Given the description of an element on the screen output the (x, y) to click on. 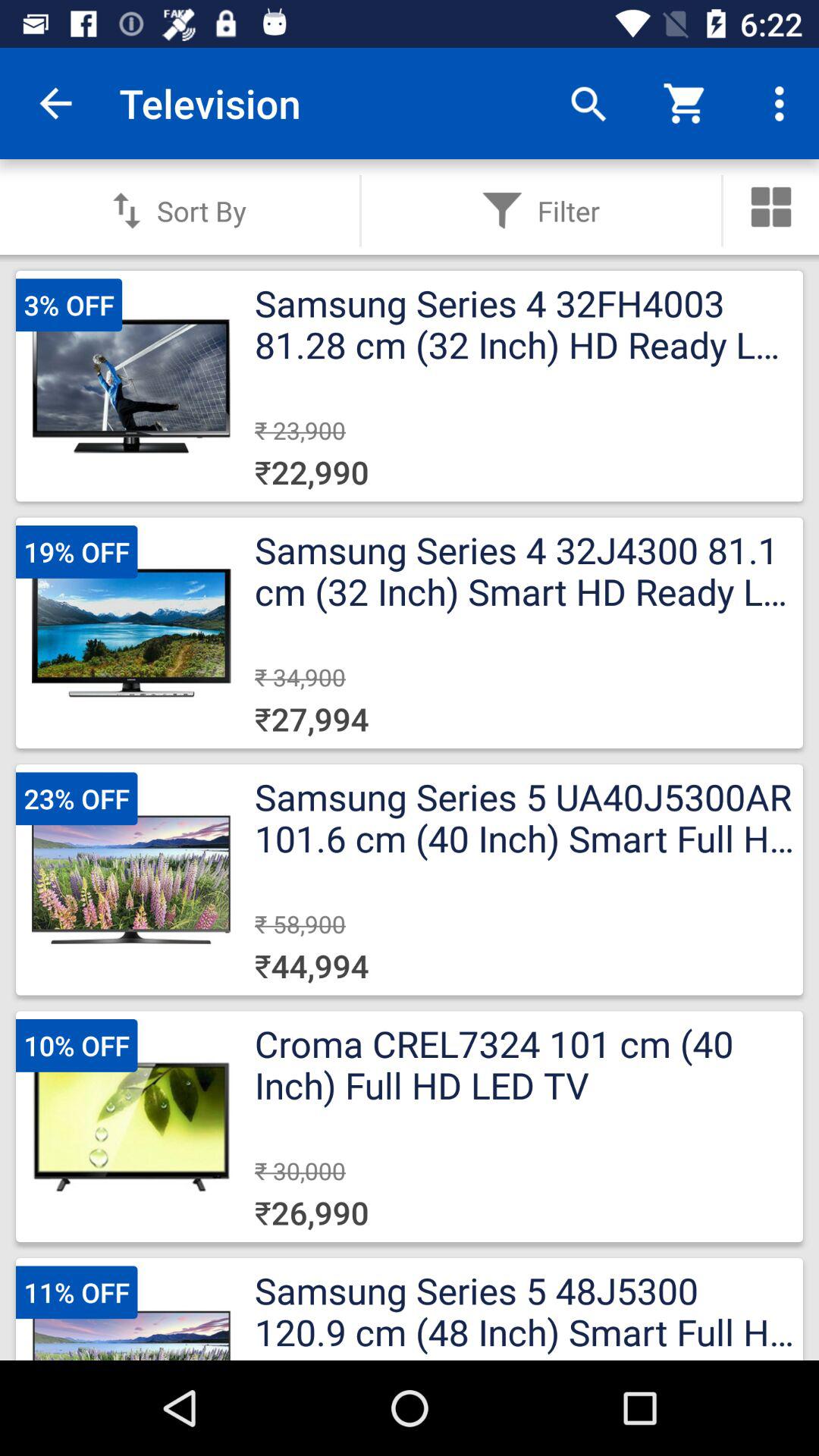
page viewing options (771, 206)
